Given the description of an element on the screen output the (x, y) to click on. 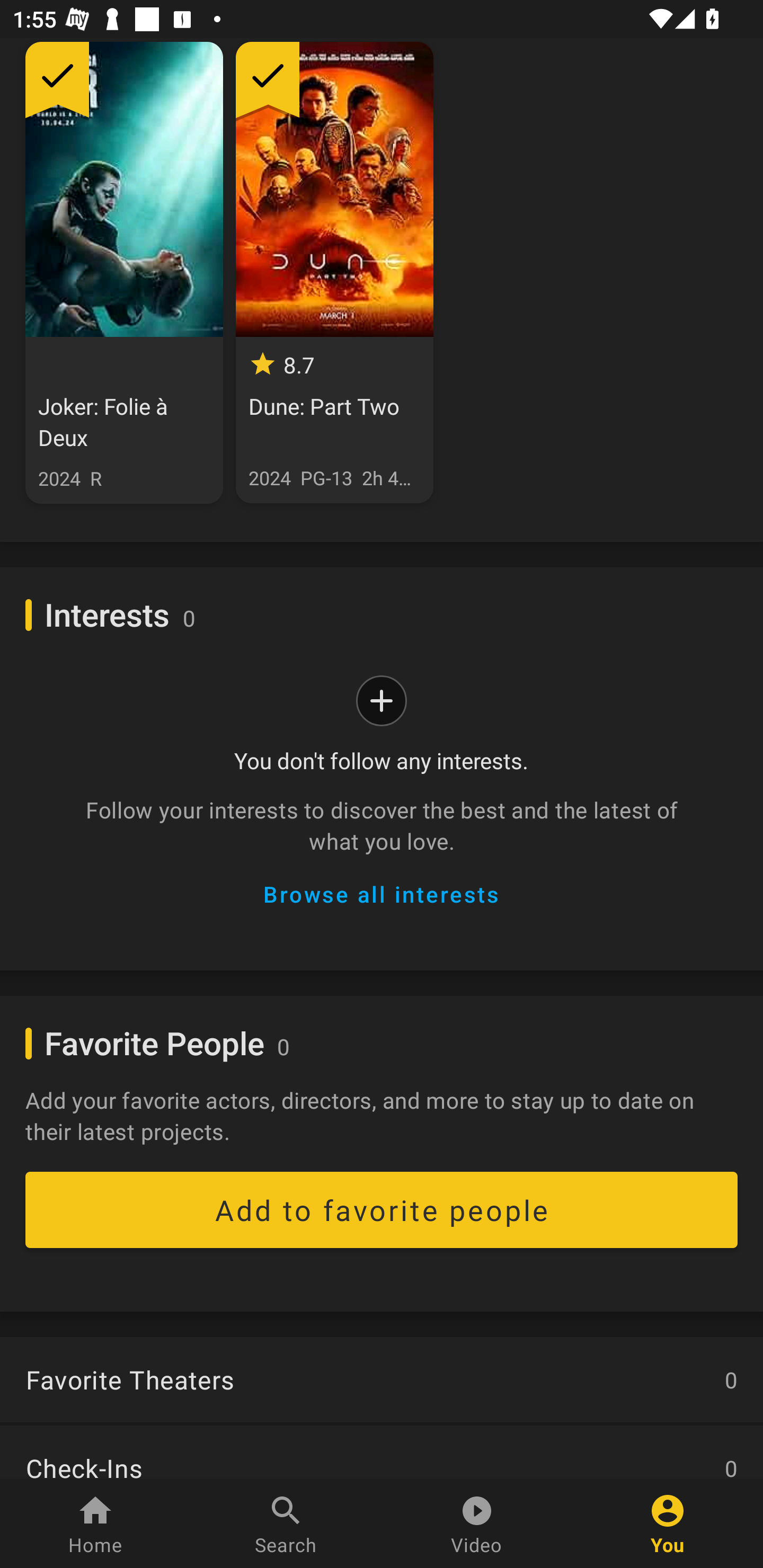
Joker: Folie à Deux 2024  R   (123, 272)
8.7 Dune: Part Two 2024  PG-13  2h 46m (334, 272)
Browse all interests (380, 894)
Add to favorite people (381, 1209)
Favorite Theaters 0 (381, 1381)
Check-Ins 0 (381, 1451)
Home (95, 1523)
Search (285, 1523)
Video (476, 1523)
